Given the description of an element on the screen output the (x, y) to click on. 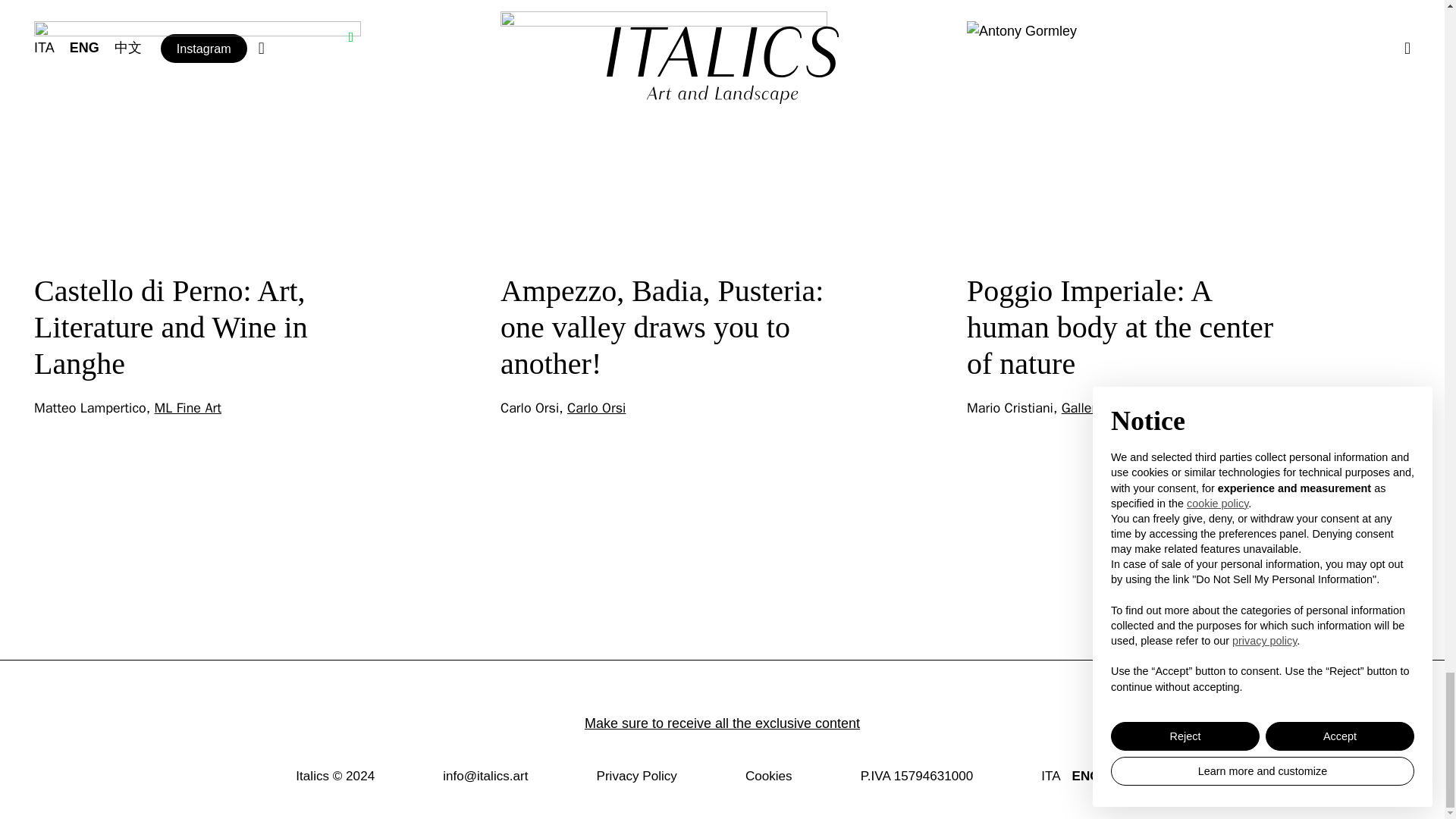
Castello di Perno: Art, Literature and Wine in Langhe (170, 326)
Ita (1050, 776)
Ampezzo, Badia, Pusteria: one valley draws you to another! (662, 326)
ML Fine Art (187, 407)
Carlo Orsi (596, 407)
Eng (1085, 776)
